Given the description of an element on the screen output the (x, y) to click on. 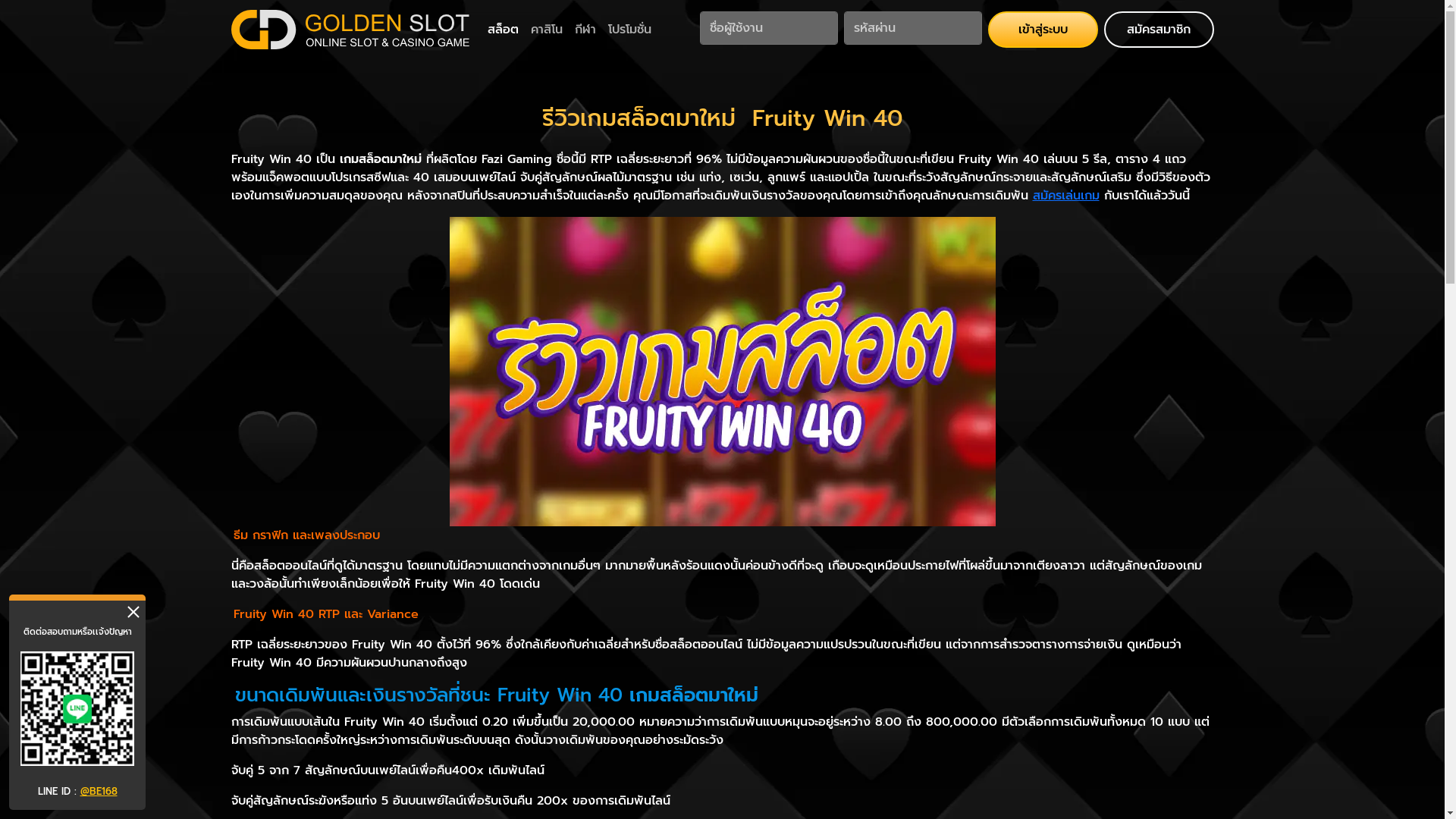
@BE168 Element type: text (98, 791)
